Given the description of an element on the screen output the (x, y) to click on. 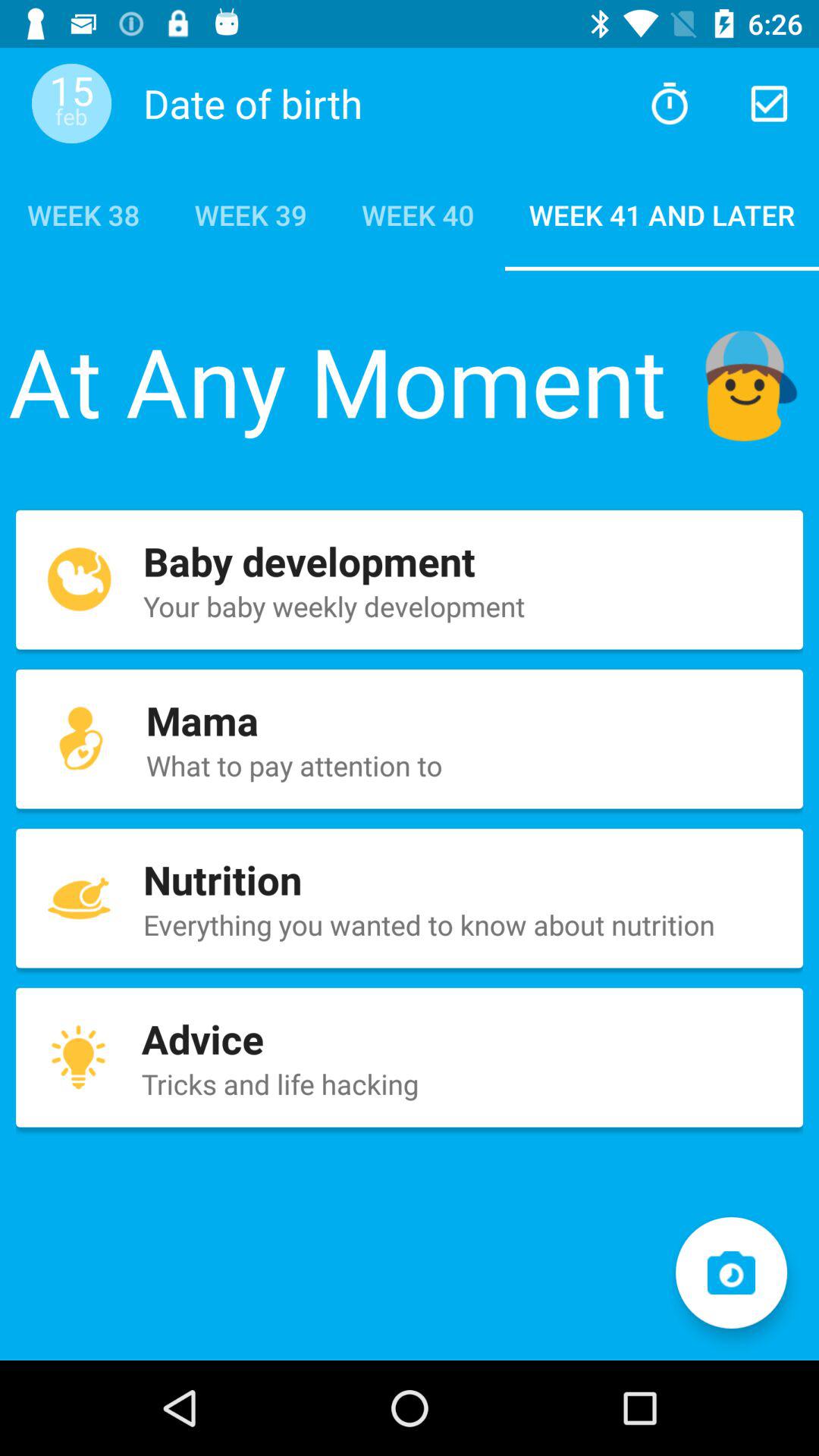
alarm (669, 103)
